Given the description of an element on the screen output the (x, y) to click on. 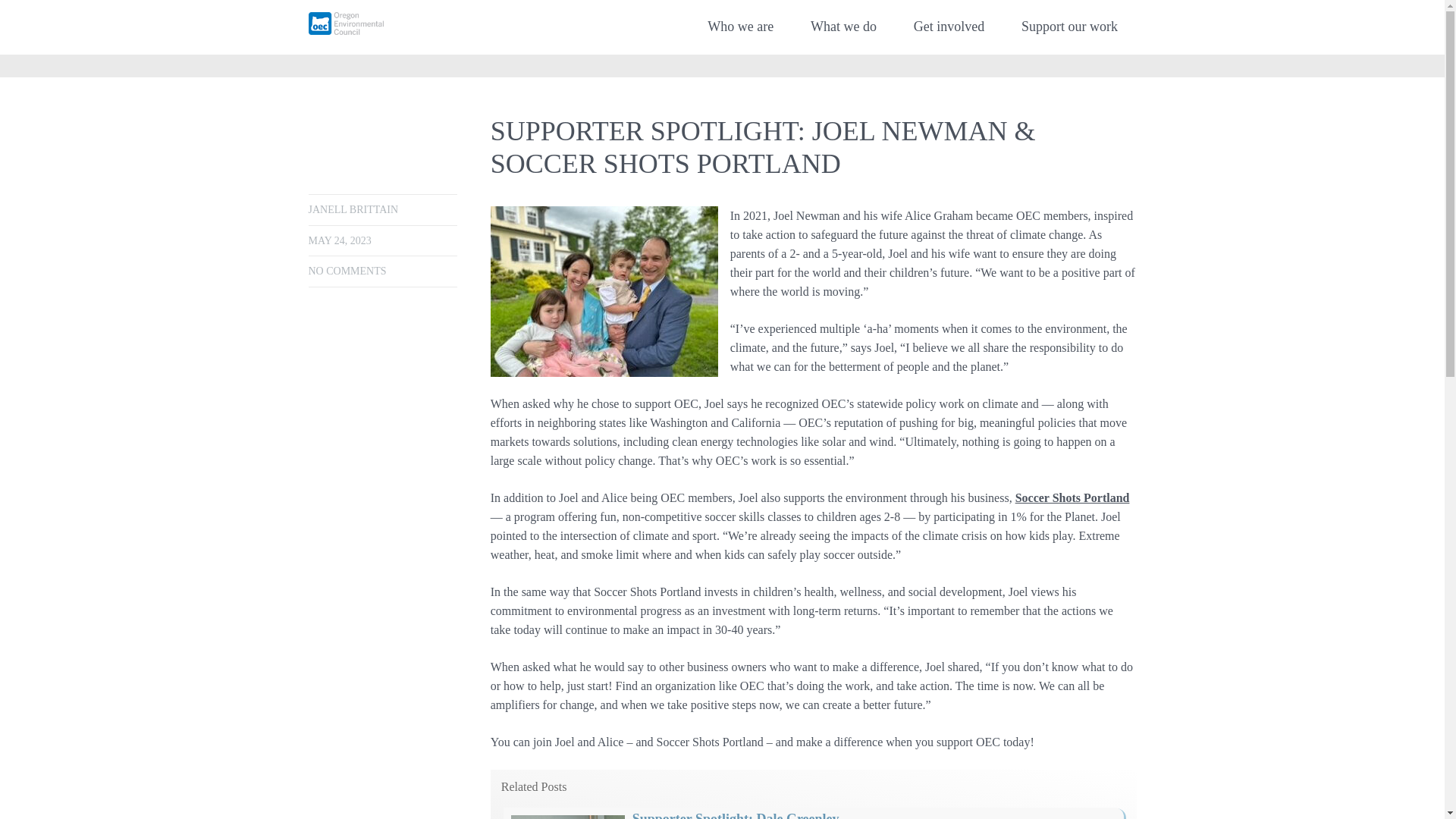
Soccer Shots Portland (1071, 497)
Get involved (948, 27)
JANELL BRITTAIN (352, 209)
NO COMMENTS (346, 270)
Posts by Janell Brittain (352, 209)
What we do (842, 27)
Support our work (1069, 27)
Supporter Spotlight: Dale Greenley (735, 815)
Who we are (740, 27)
